Given the description of an element on the screen output the (x, y) to click on. 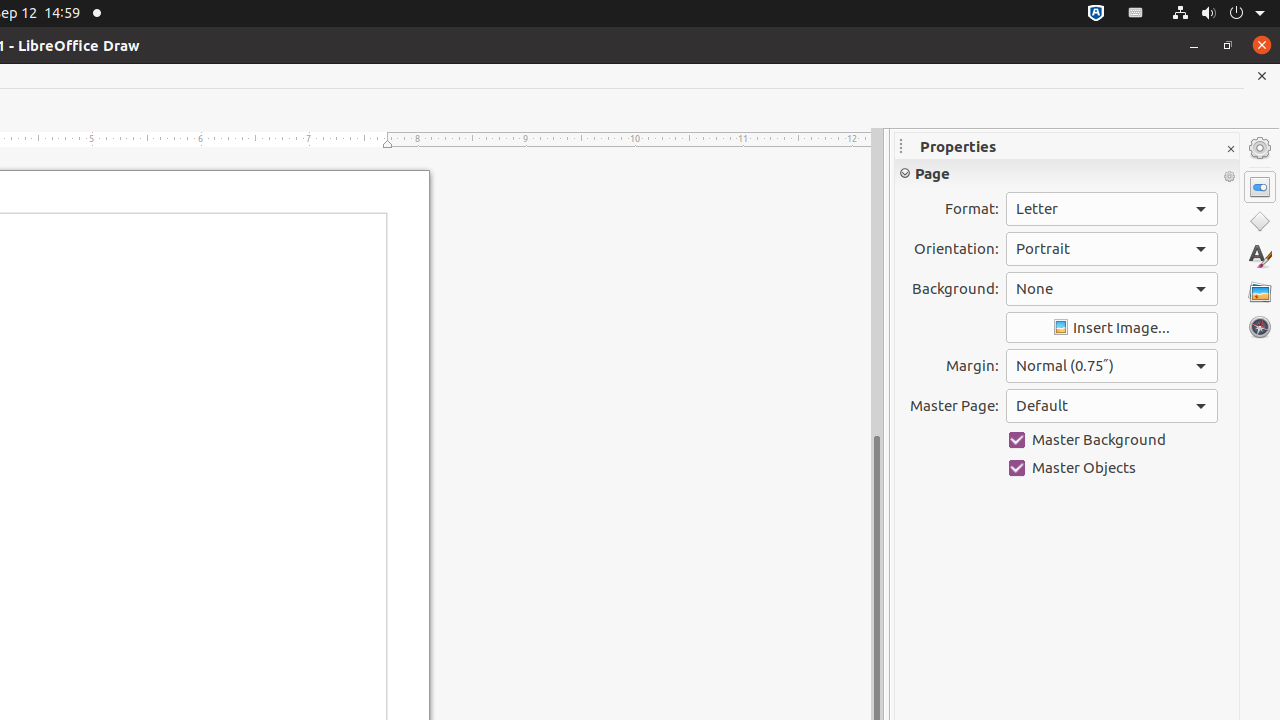
System Element type: menu (1218, 13)
Shapes Element type: radio-button (1260, 222)
